Given the description of an element on the screen output the (x, y) to click on. 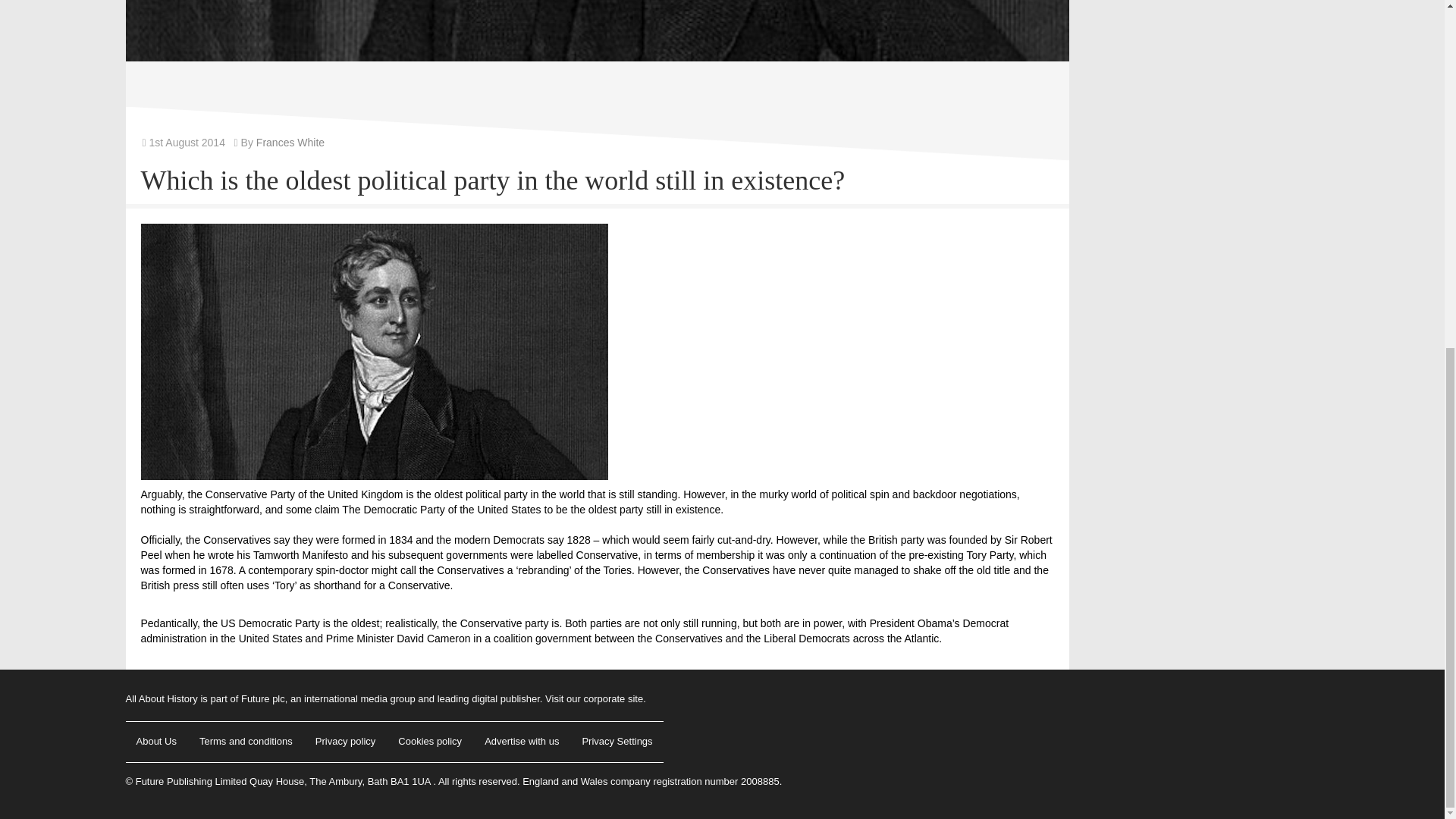
Privacy Settings (616, 741)
Privacy policy (344, 741)
Visit our corporate site (593, 698)
Terms and conditions (245, 741)
Cookies policy (429, 741)
Advertise with us (521, 741)
Frances White (290, 142)
About Us (156, 741)
